Given the description of an element on the screen output the (x, y) to click on. 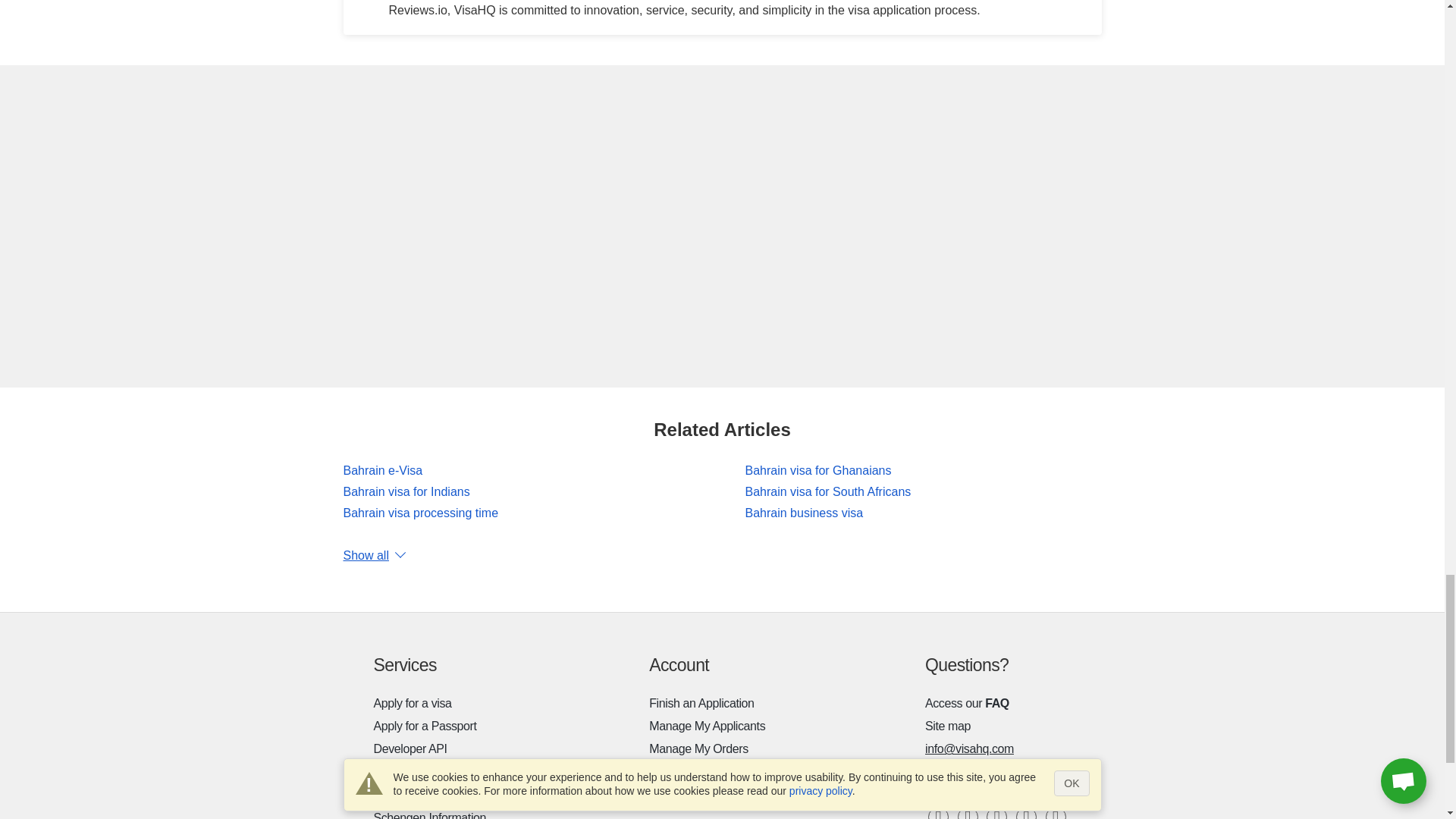
Bahrain visa for South Africans (827, 491)
Bahrain visa for Ghanaians (817, 470)
Bahrain e-Visa (382, 470)
Bahrain visa for Indians (405, 491)
Bahrain visa processing time (419, 512)
Bahrain business visa (803, 512)
